Given the description of an element on the screen output the (x, y) to click on. 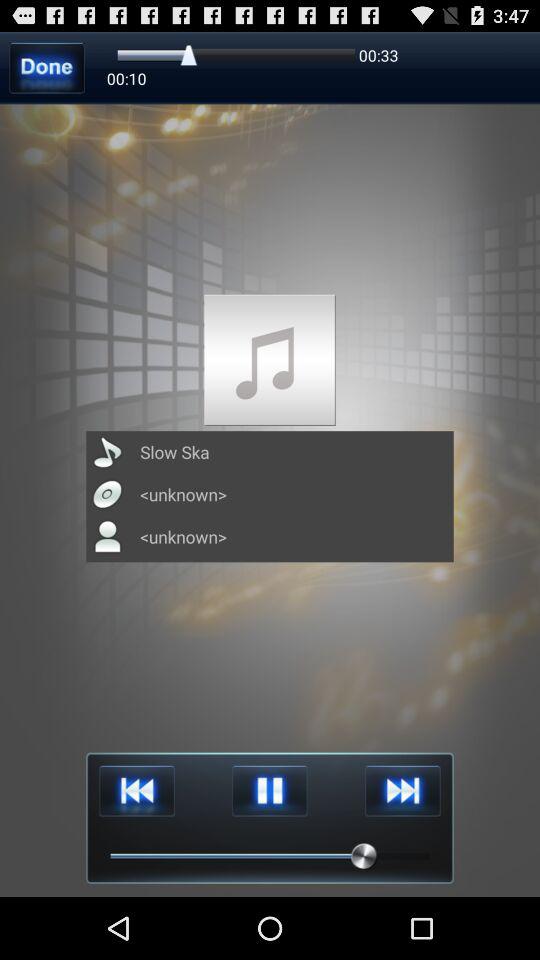
pause music (269, 790)
